Given the description of an element on the screen output the (x, y) to click on. 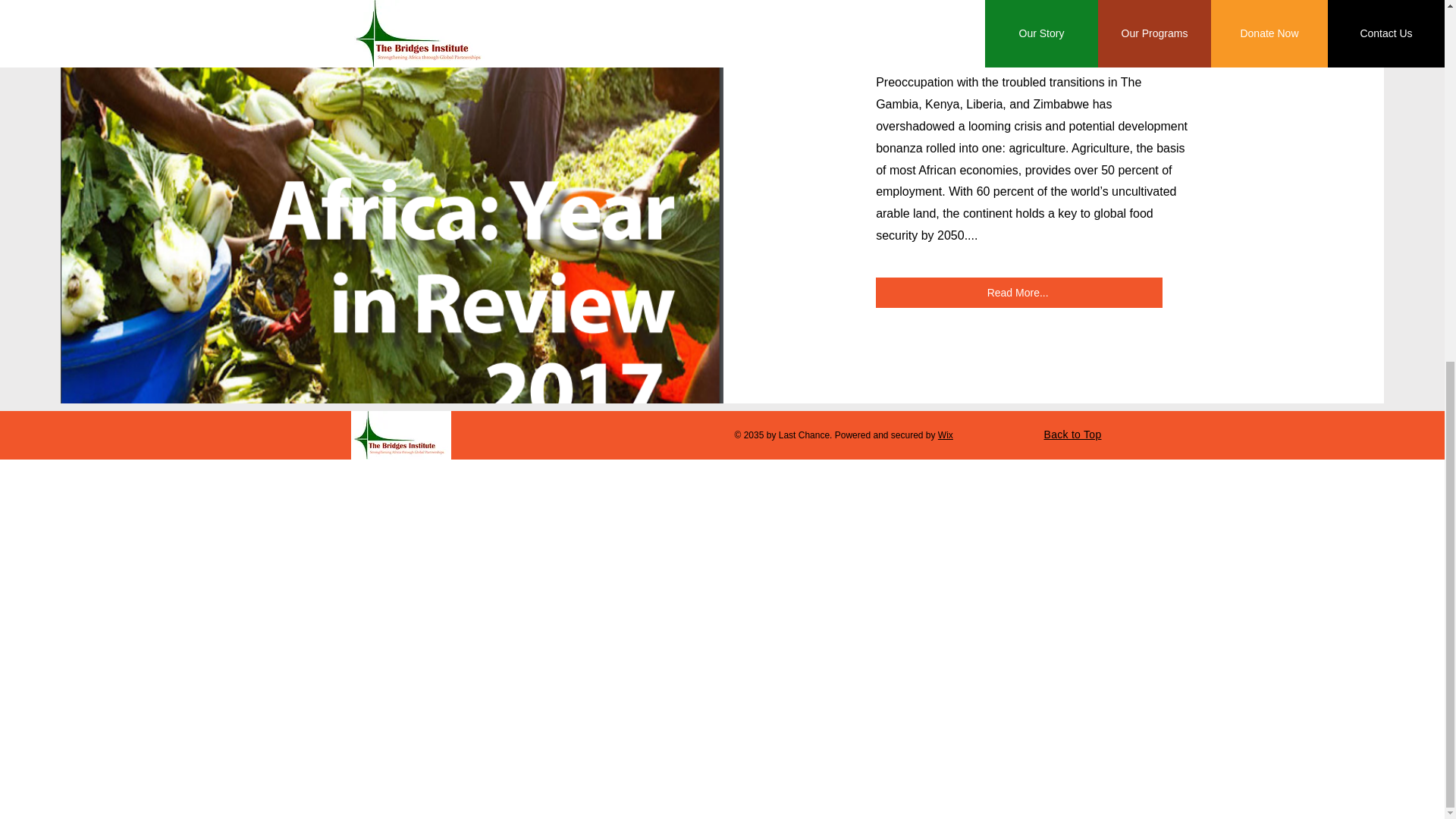
Read More... (1018, 292)
Wix (945, 434)
Back to Top (1072, 434)
